Given the description of an element on the screen output the (x, y) to click on. 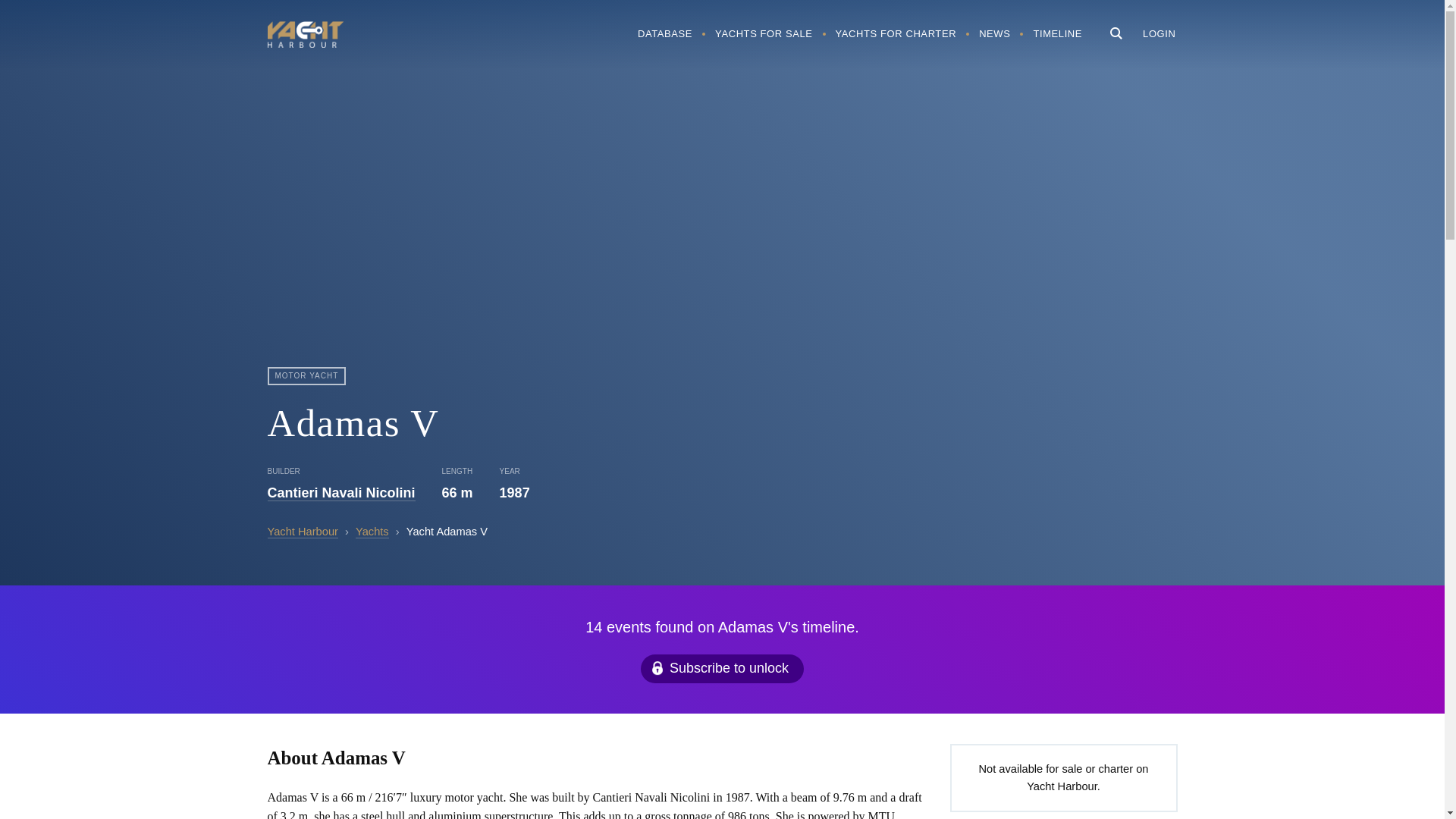
Yacht Harbour (301, 531)
Subscribe to unlock (721, 668)
Cantieri Navali Nicolini (340, 493)
Yacht Harbour (304, 36)
NEWS (995, 33)
LOGIN (1158, 33)
DATABASE (664, 33)
Yachts (371, 531)
TIMELINE (1057, 33)
YACHTS FOR SALE (763, 33)
